Given the description of an element on the screen output the (x, y) to click on. 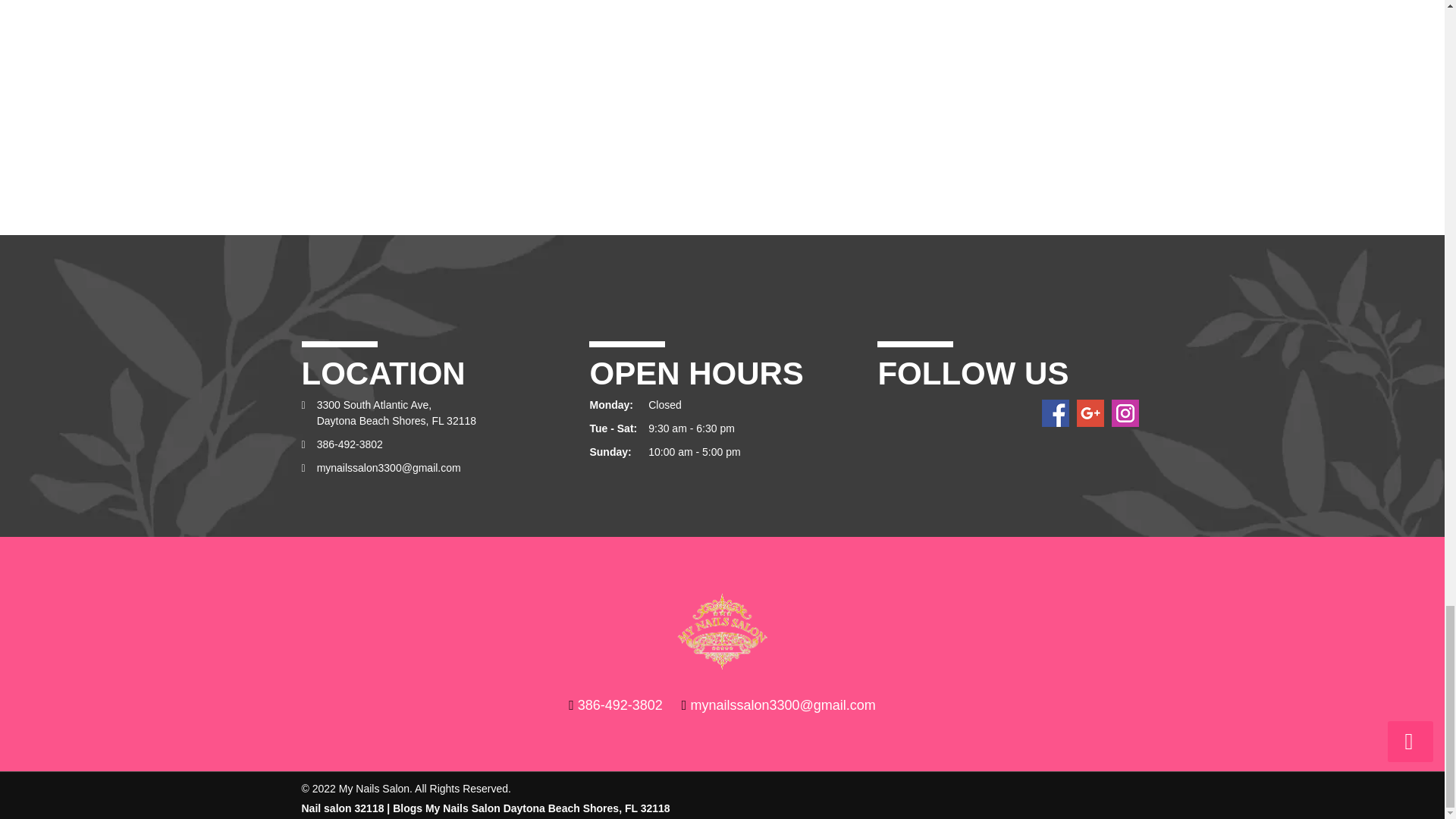
Blogs My Nails Salon Daytona Beach Shores, FL 32118 (531, 808)
Call Us (349, 444)
Mail Us (389, 467)
386-492-3802 (620, 704)
Nail salon 32118 (342, 808)
386-492-3802 (349, 444)
Facebook (1055, 411)
